Given the description of an element on the screen output the (x, y) to click on. 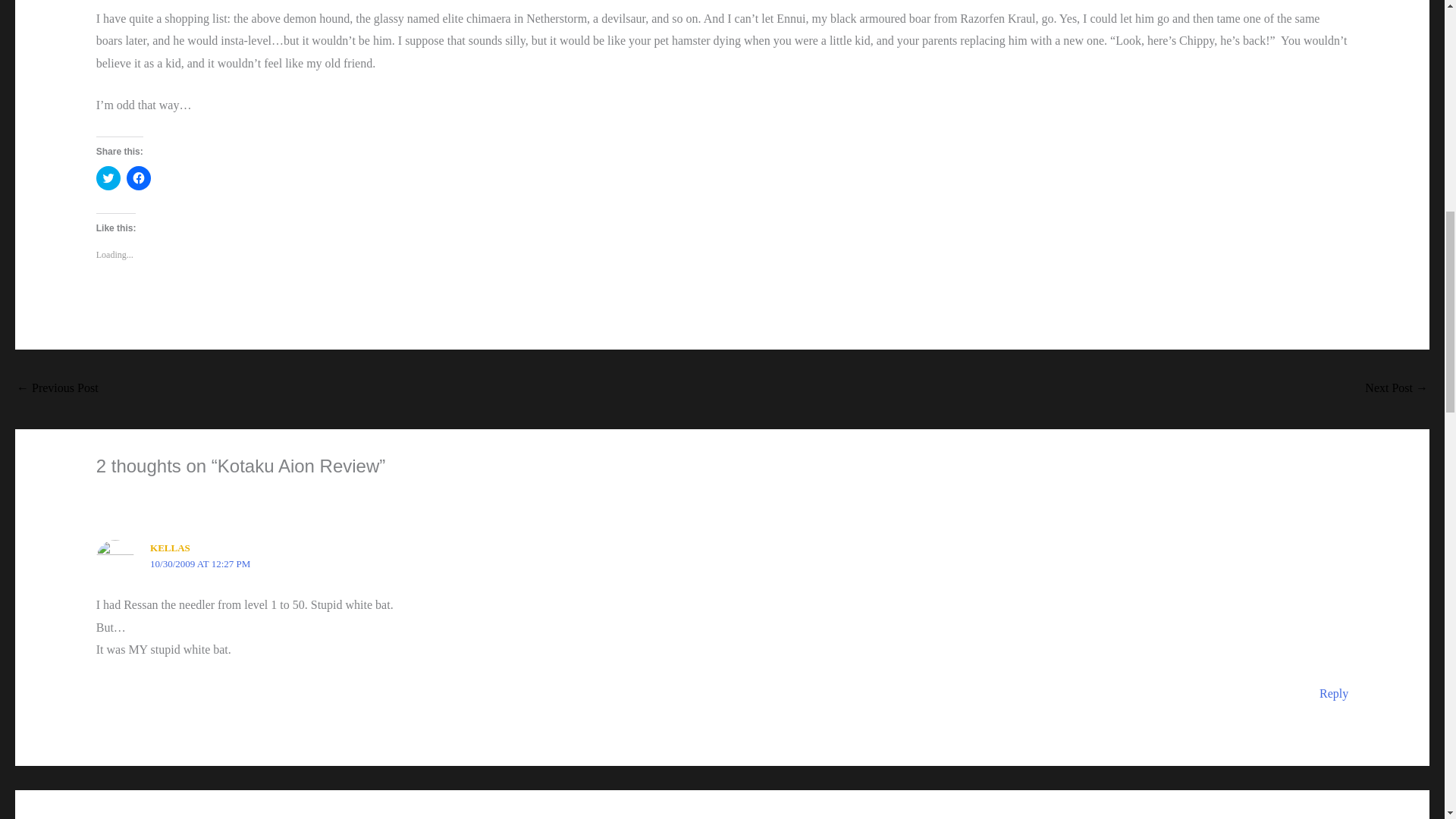
Click to share on Twitter (108, 178)
Click to share on Facebook (138, 178)
hmmph... (1396, 389)
Spirit of Competition (57, 389)
